Given the description of an element on the screen output the (x, y) to click on. 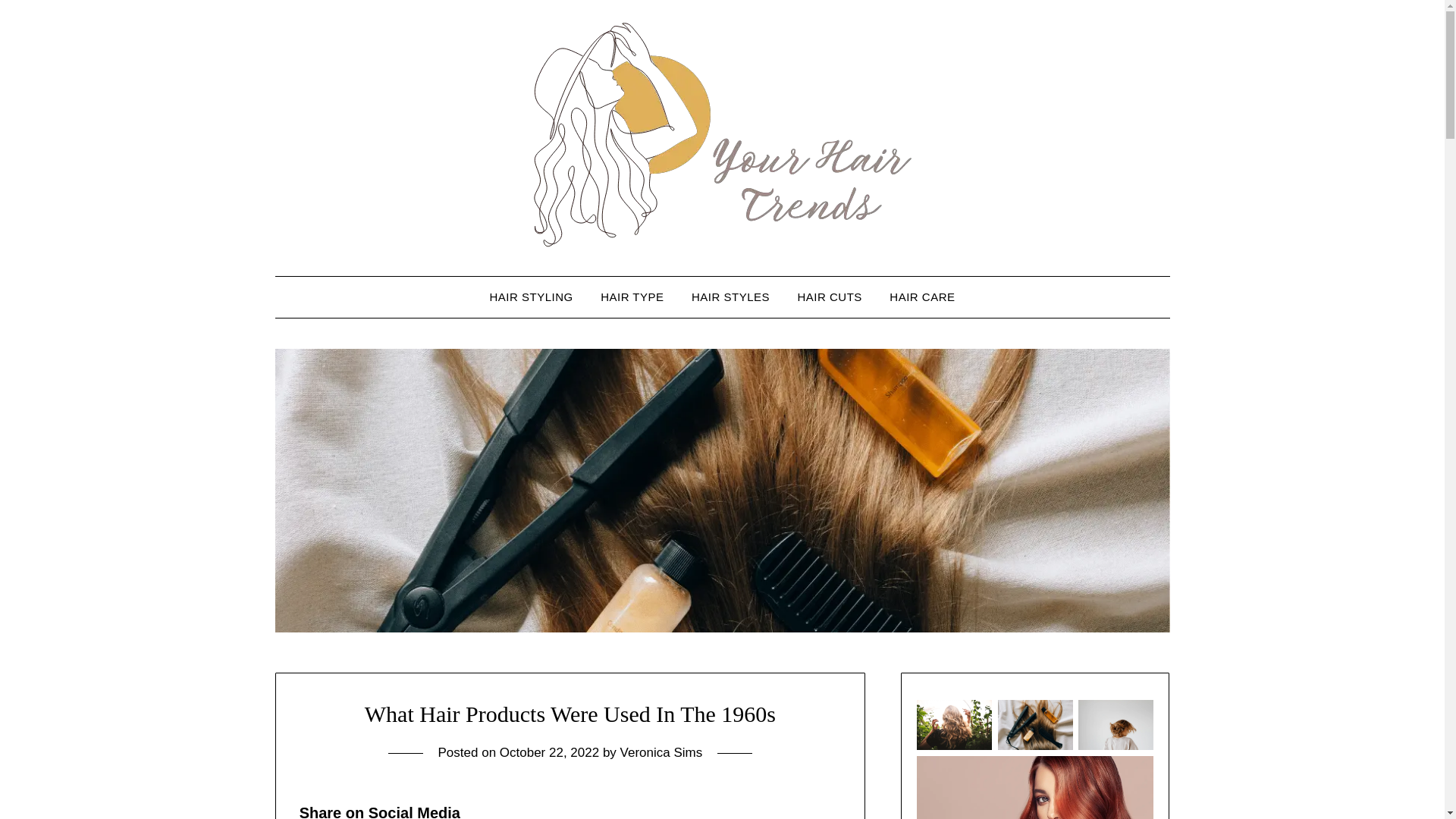
Veronica Sims (661, 752)
HAIR TYPE (631, 296)
October 22, 2022 (548, 752)
HAIR CUTS (830, 296)
HAIR STYLES (730, 296)
HAIR CARE (921, 296)
HAIR STYLING (531, 296)
